Given the description of an element on the screen output the (x, y) to click on. 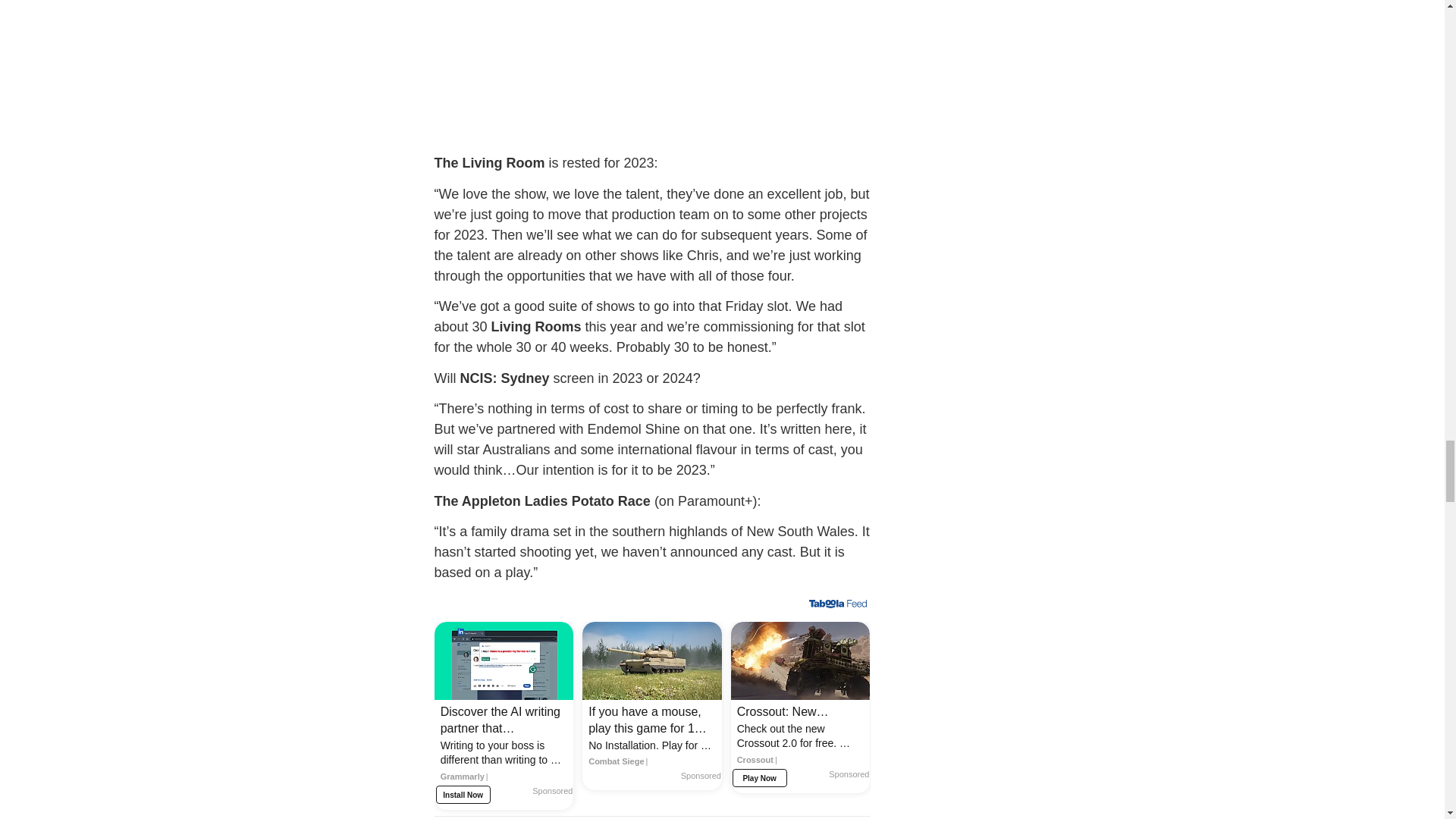
Crossout: New Apocalyptic MMO (800, 740)
